Given the description of an element on the screen output the (x, y) to click on. 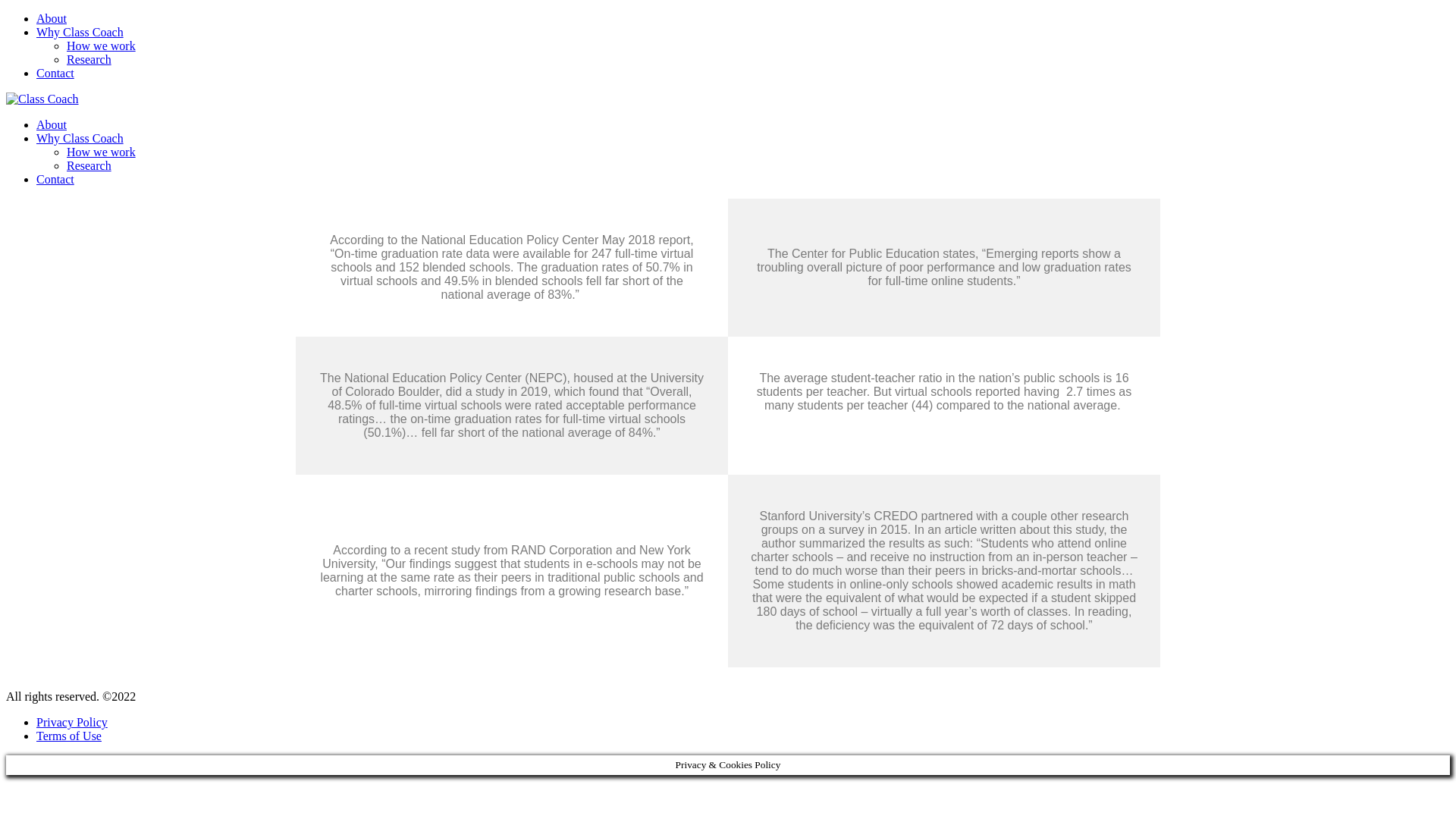
About (51, 124)
Research (89, 59)
Terms of Use (68, 735)
About (51, 18)
How we work (100, 151)
Contact (55, 178)
Contact (55, 72)
Why Class Coach (79, 137)
Privacy Policy (71, 721)
